Given the description of an element on the screen output the (x, y) to click on. 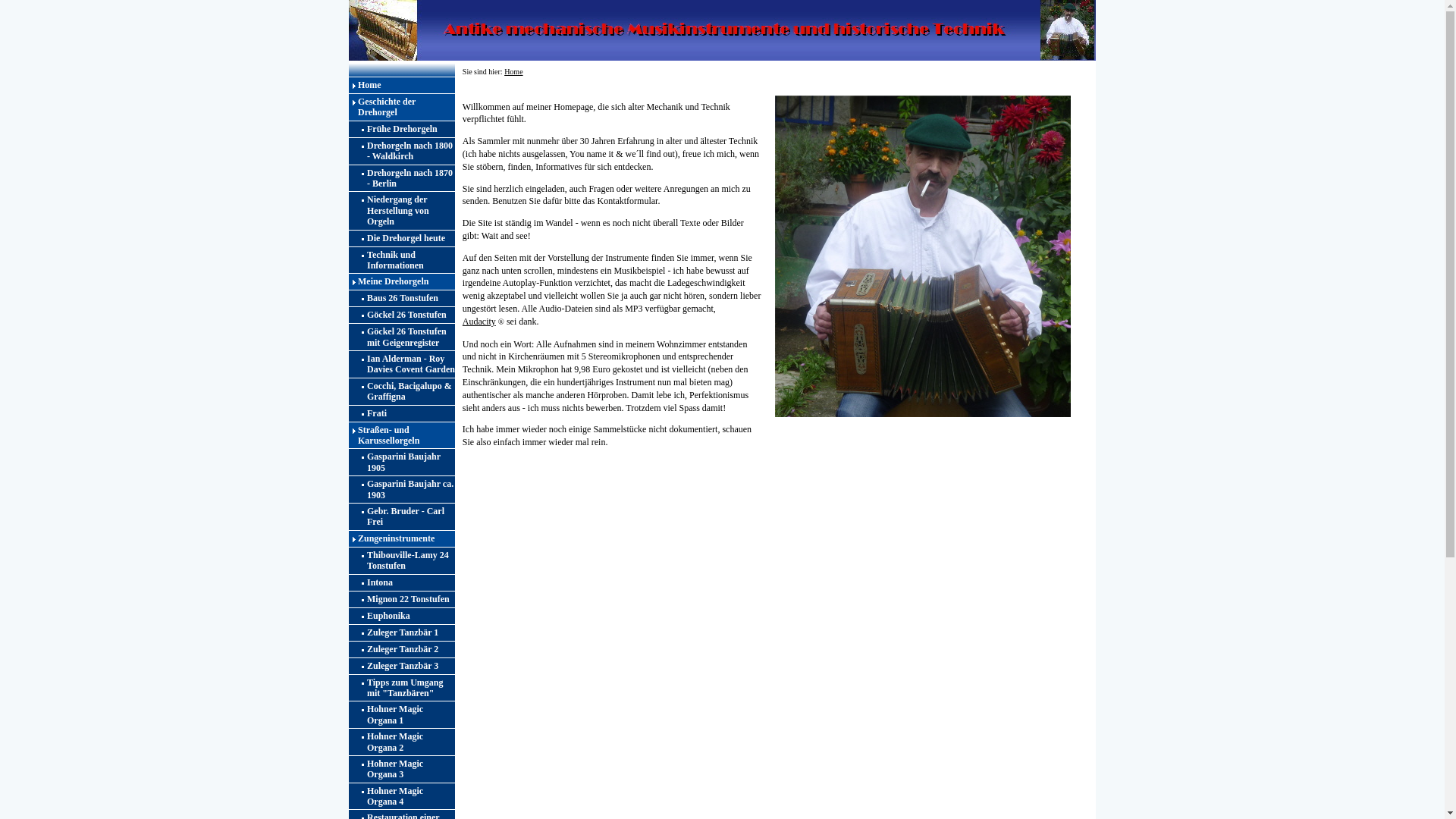
Drehorgeln nach 1800 - Waldkirch Element type: text (401, 151)
Home Element type: text (401, 85)
Niedergang der Herstellung von Orgeln Element type: text (401, 210)
Euphonika Element type: text (401, 616)
Gebr. Bruder - Carl Frei Element type: text (401, 516)
Cocchi, Bacigalupo & Graffigna Element type: text (401, 391)
Gasparini Baujahr ca. 1903 Element type: text (401, 489)
Intona Element type: text (401, 582)
Die Drehorgel heute Element type: text (401, 238)
Hohner Magic Organa 2 Element type: text (401, 741)
Ian Alderman - Roy Davies Covent Garden Element type: text (401, 364)
Hohner Magic Organa 1 Element type: text (401, 714)
Zungeninstrumente Element type: text (401, 538)
Audacity Element type: text (478, 321)
Technik und Informationen Element type: text (401, 260)
Baus 26 Tonstufen Element type: text (401, 298)
Gasparini Baujahr 1905 Element type: text (401, 461)
Geschichte der Drehorgel Element type: text (401, 107)
Drehorgeln nach 1870 - Berlin Element type: text (401, 178)
Frati Element type: text (401, 413)
Meine Drehorgeln Element type: text (401, 281)
Hohner Magic Organa 3 Element type: text (401, 769)
Hohner Magic Organa 4 Element type: text (401, 796)
Mignon 22 Tonstufen Element type: text (401, 599)
Thibouville-Lamy 24 Tonstufen Element type: text (401, 560)
Drehorgel Element type: hover (721, 30)
Home Element type: text (513, 71)
